Given the description of an element on the screen output the (x, y) to click on. 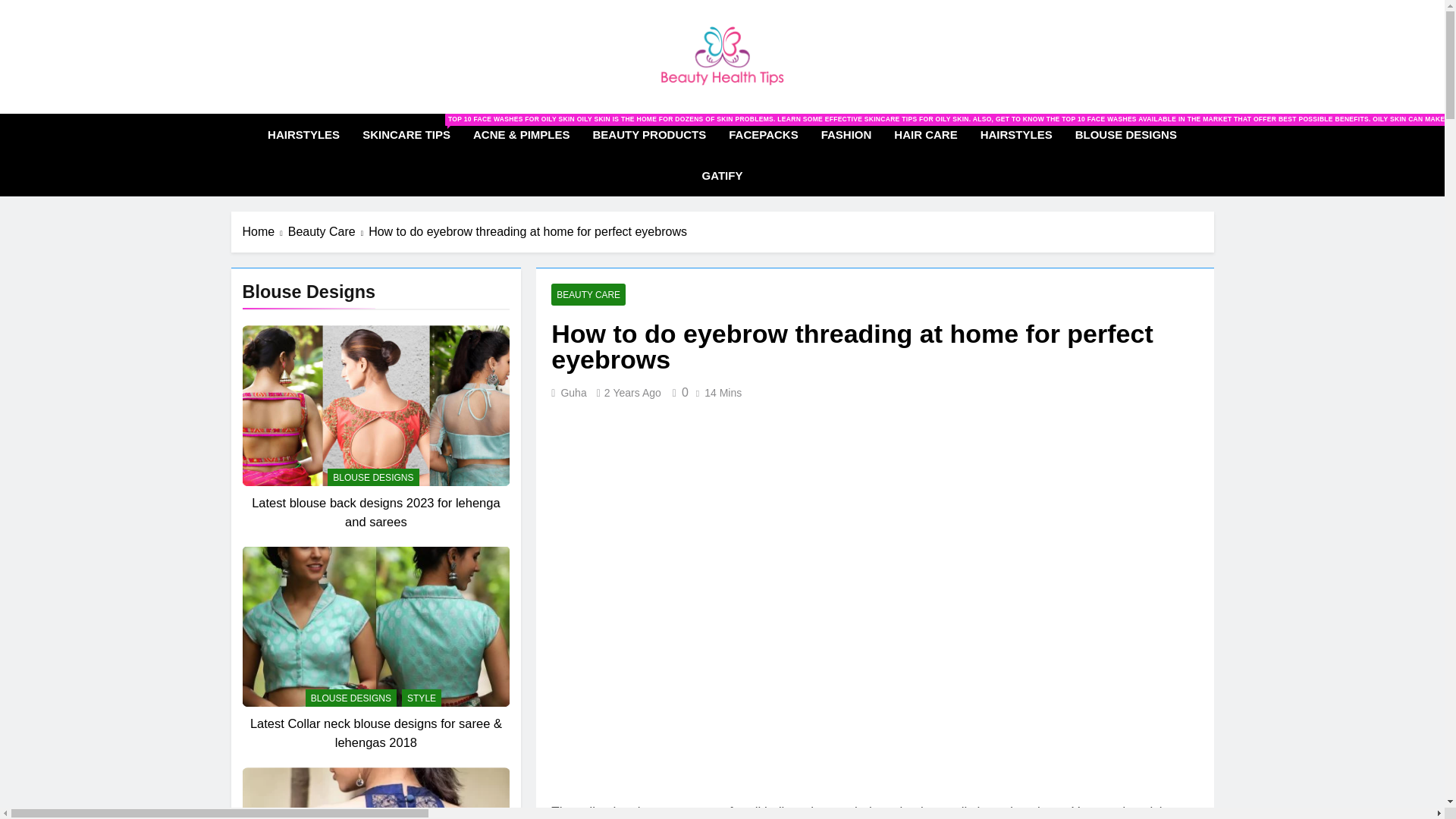
Guha (573, 392)
Beauty Health Tips (620, 107)
BEAUTY PRODUCTS (648, 134)
STYLE (421, 697)
HAIRSTYLES (303, 134)
HAIR CARE (925, 134)
BEAUTY CARE (588, 294)
Beauty Care (328, 231)
0 (677, 391)
FACEPACKS (763, 134)
